Given the description of an element on the screen output the (x, y) to click on. 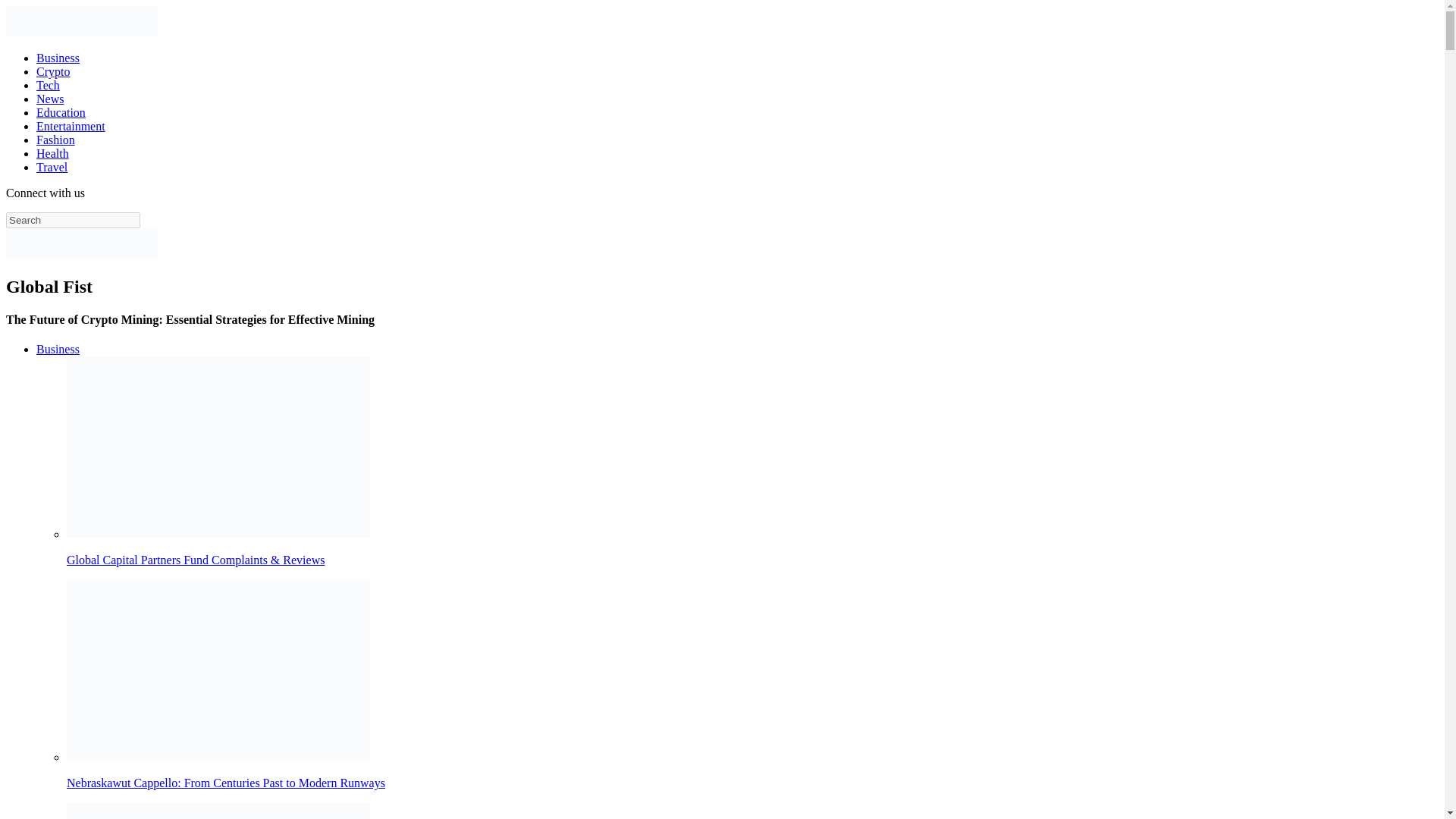
Tech (47, 84)
Search (72, 220)
Health (52, 153)
Education (60, 112)
Fashion (55, 139)
Business (58, 349)
Crypto (52, 71)
Business (58, 57)
Travel (51, 166)
News (50, 98)
Entertainment (70, 125)
